Given the description of an element on the screen output the (x, y) to click on. 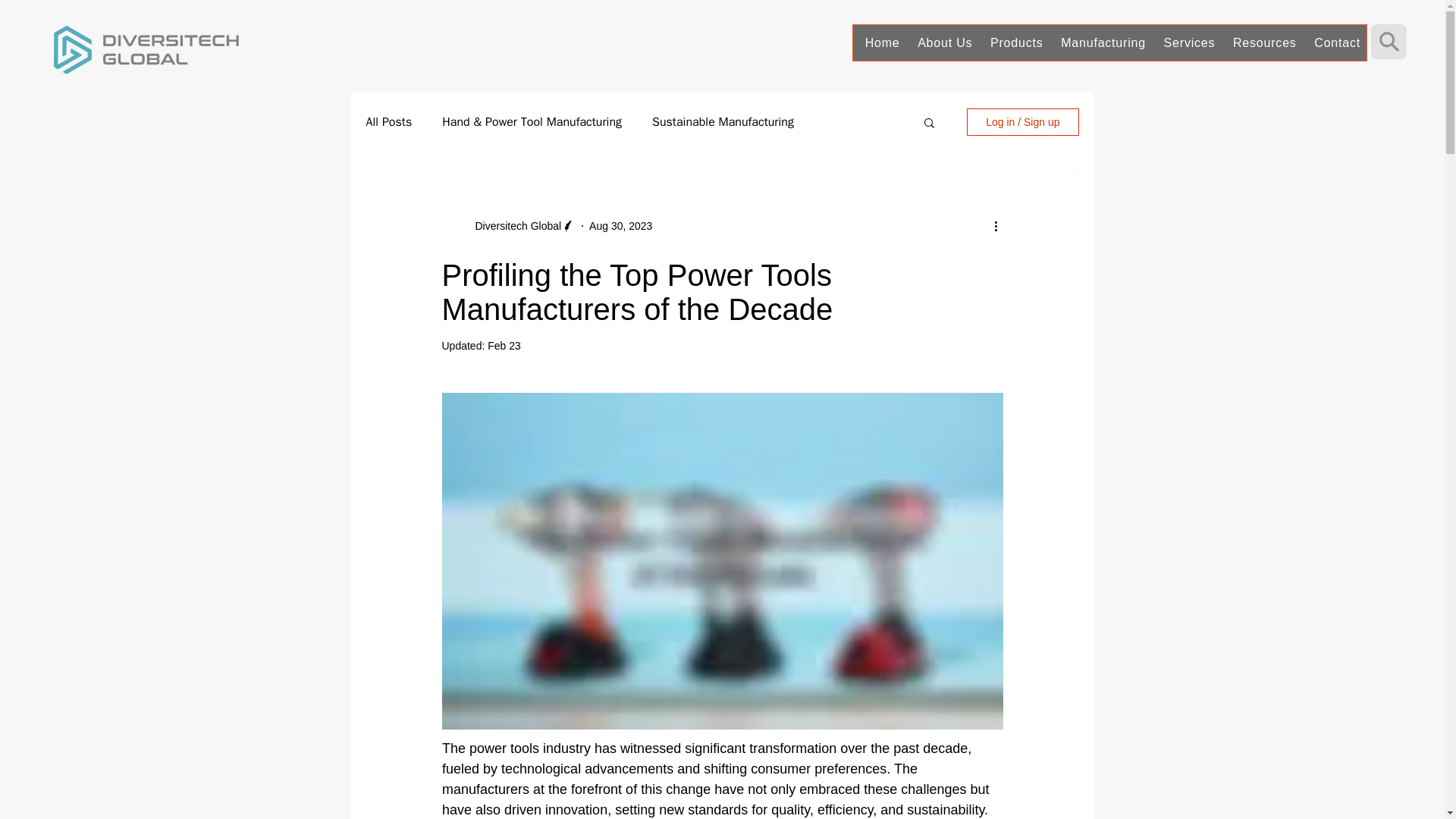
Diversitech Global (512, 226)
Aug 30, 2023 (620, 225)
Home (879, 42)
Feb 23 (504, 345)
